Given the description of an element on the screen output the (x, y) to click on. 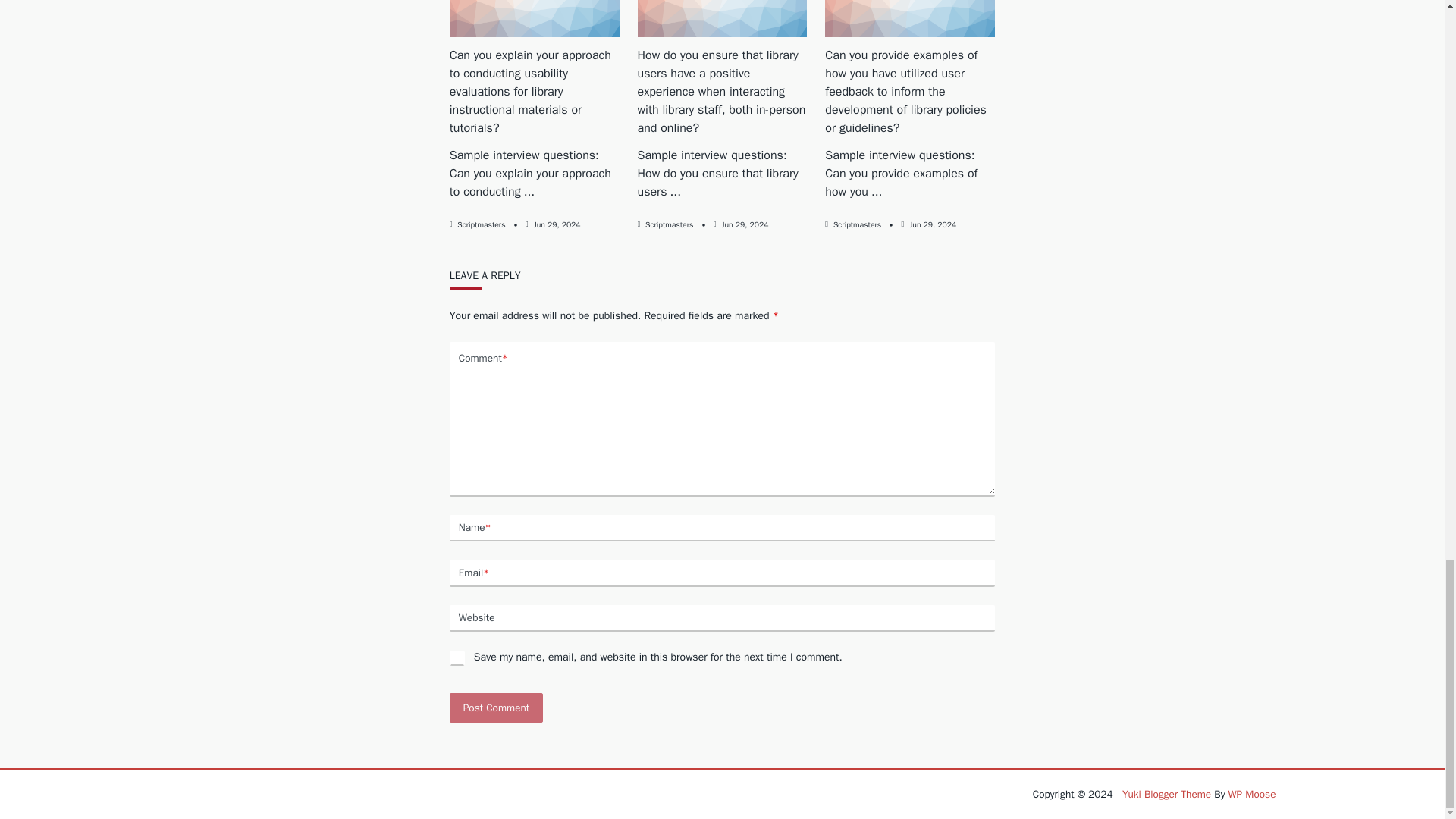
... (876, 191)
Jun 29, 2024 (744, 225)
... (529, 191)
Jun 29, 2024 (557, 225)
... (675, 191)
Scriptmasters (481, 225)
Post Comment (496, 707)
Scriptmasters (669, 225)
Scriptmasters (856, 225)
yes (456, 657)
